Given the description of an element on the screen output the (x, y) to click on. 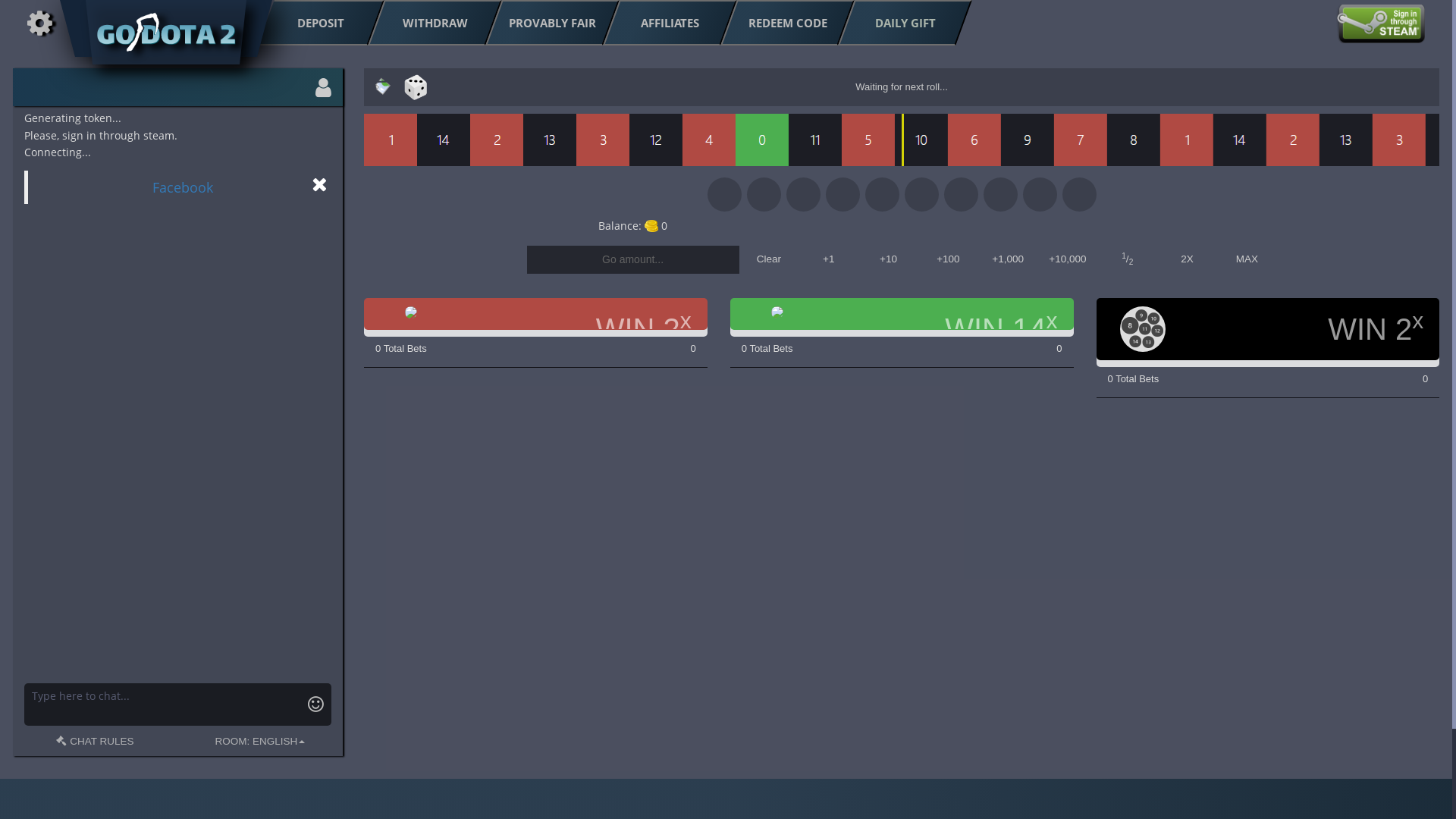
Dice games Element type: hover (414, 87)
Clear Element type: text (769, 259)
Roulette games Element type: hover (379, 85)
REDEEM CODE Element type: text (778, 22)
AFFILIATES Element type: text (661, 22)
 CHAT RULES Element type: text (94, 741)
MAX Element type: text (1247, 259)
ROOM: ENGLISH Element type: text (260, 741)
1/2 Element type: text (1127, 259)
+1,000 Element type: text (1008, 259)
+100 Element type: text (948, 259)
2X Element type: text (1187, 259)
+10,000 Element type: text (1068, 259)
+1 Element type: text (828, 259)
+10 Element type: text (888, 259)
WITHDRAW Element type: text (426, 22)
DEPOSIT Element type: text (312, 22)
PROVABLY FAIR Element type: text (543, 22)
Facebook Element type: text (182, 187)
DAILY GIFT Element type: text (896, 22)
